Given the description of an element on the screen output the (x, y) to click on. 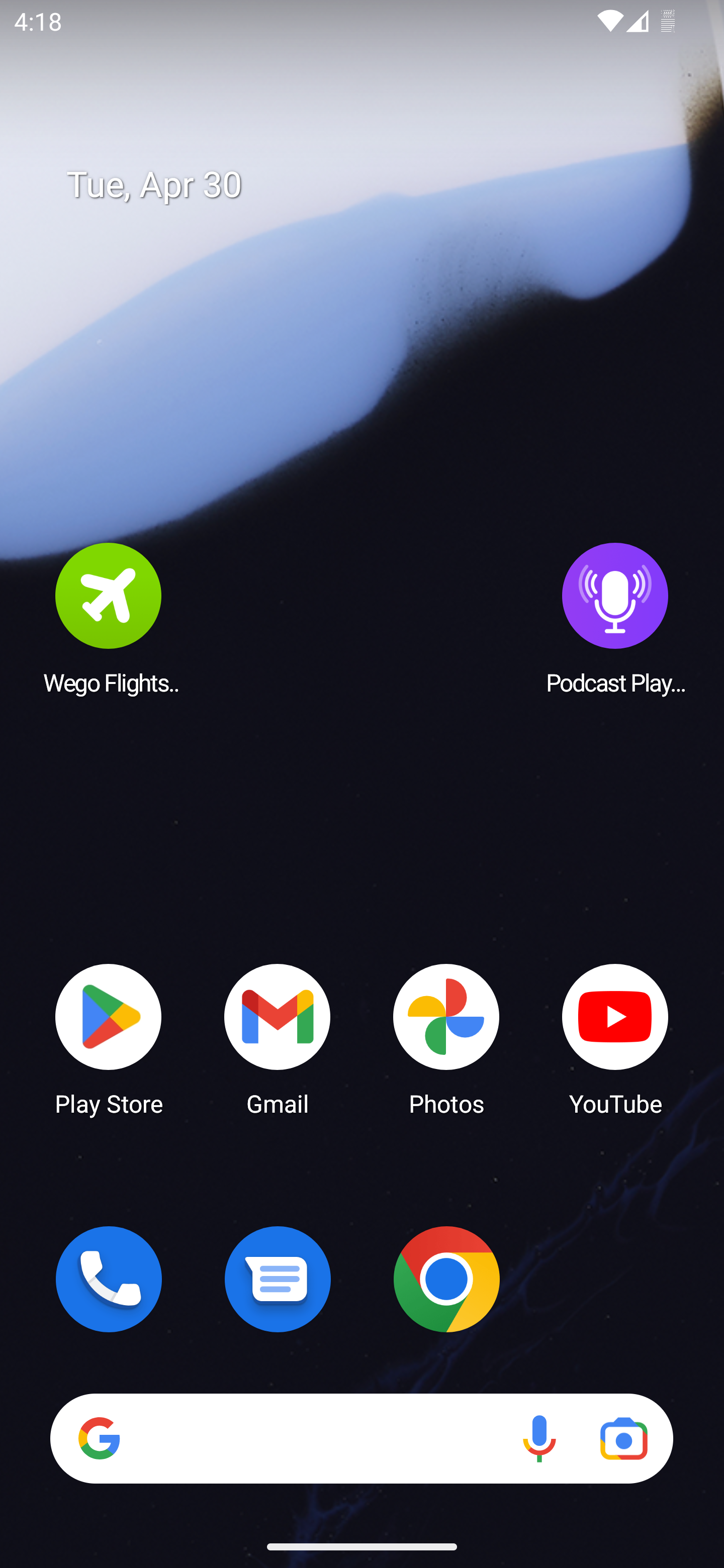
Tue, Apr 30 (375, 184)
Wego Flights & Hotels (108, 617)
Podcast Player (615, 617)
Play Store (108, 1038)
Gmail (277, 1038)
Photos (445, 1038)
YouTube (615, 1038)
Phone (108, 1279)
Messages (277, 1279)
Chrome (446, 1279)
Voice search (539, 1438)
Google Lens (623, 1438)
